Given the description of an element on the screen output the (x, y) to click on. 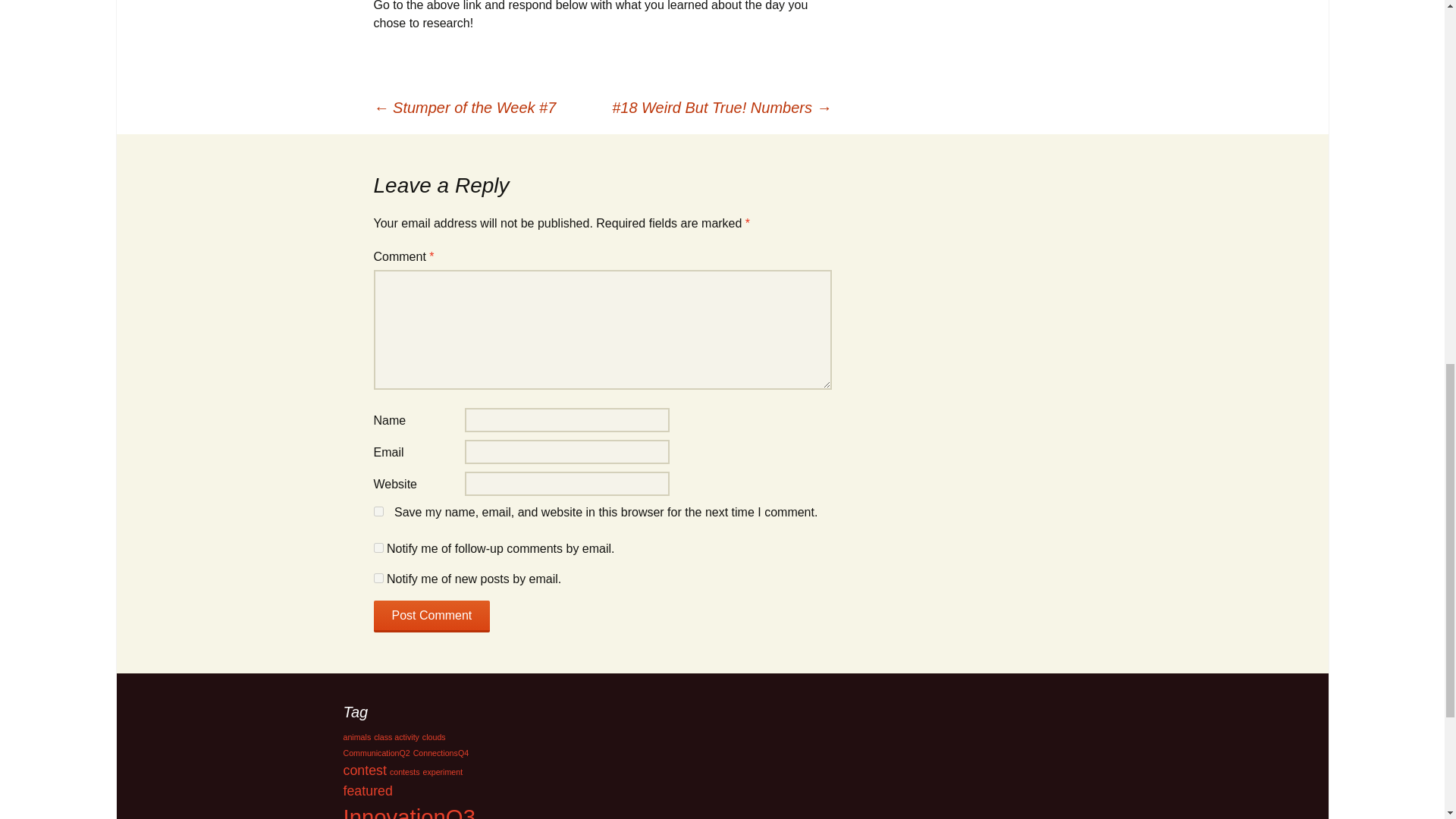
subscribe (377, 547)
Post Comment (430, 616)
yes (377, 511)
subscribe (377, 578)
